Given the description of an element on the screen output the (x, y) to click on. 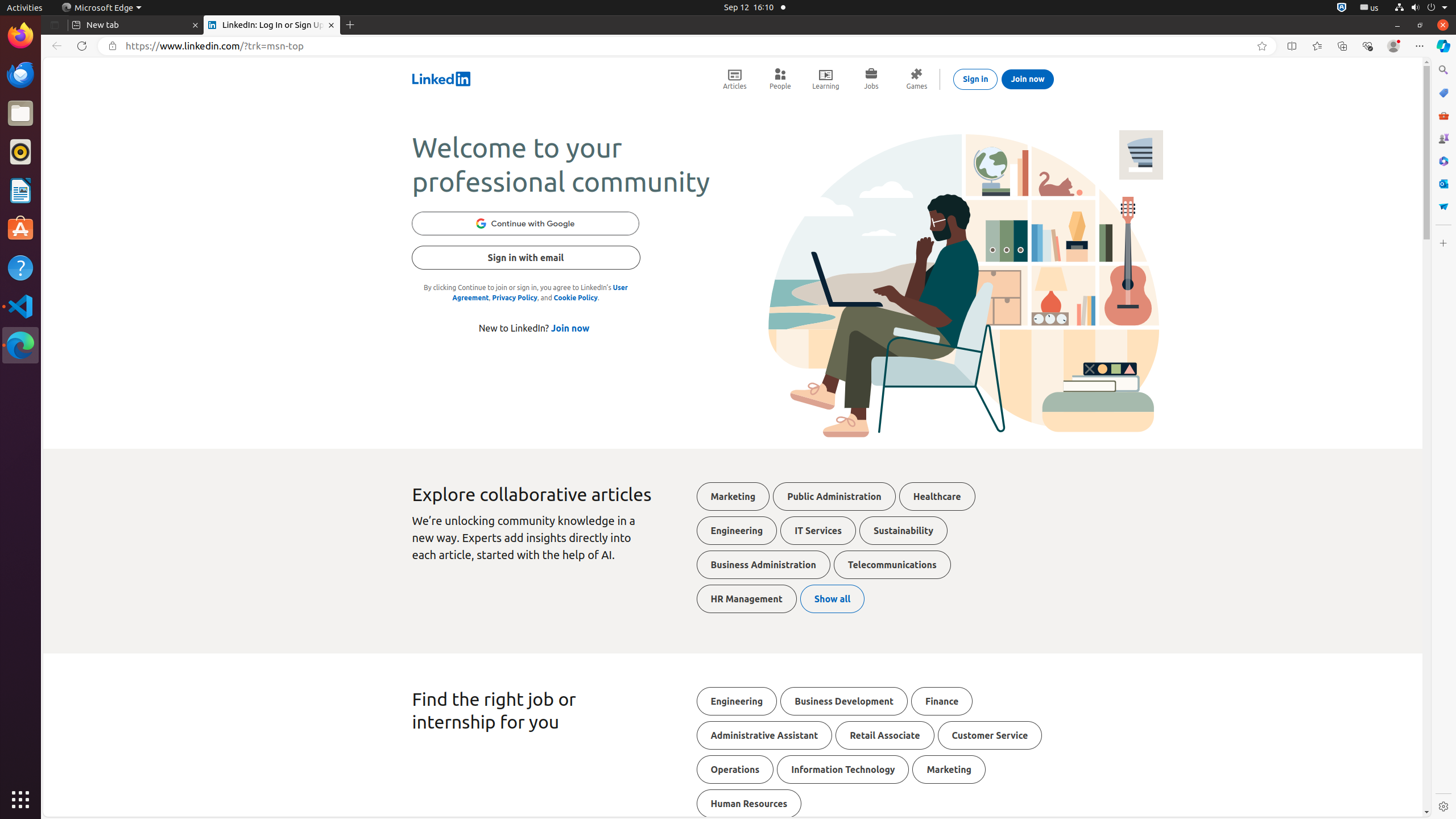
Join now Element type: link (1027, 78)
New Tab Element type: push-button (350, 25)
Ubuntu Software Element type: push-button (20, 229)
Public Administration Element type: link (834, 496)
Visual Studio Code Element type: push-button (20, 306)
